Given the description of an element on the screen output the (x, y) to click on. 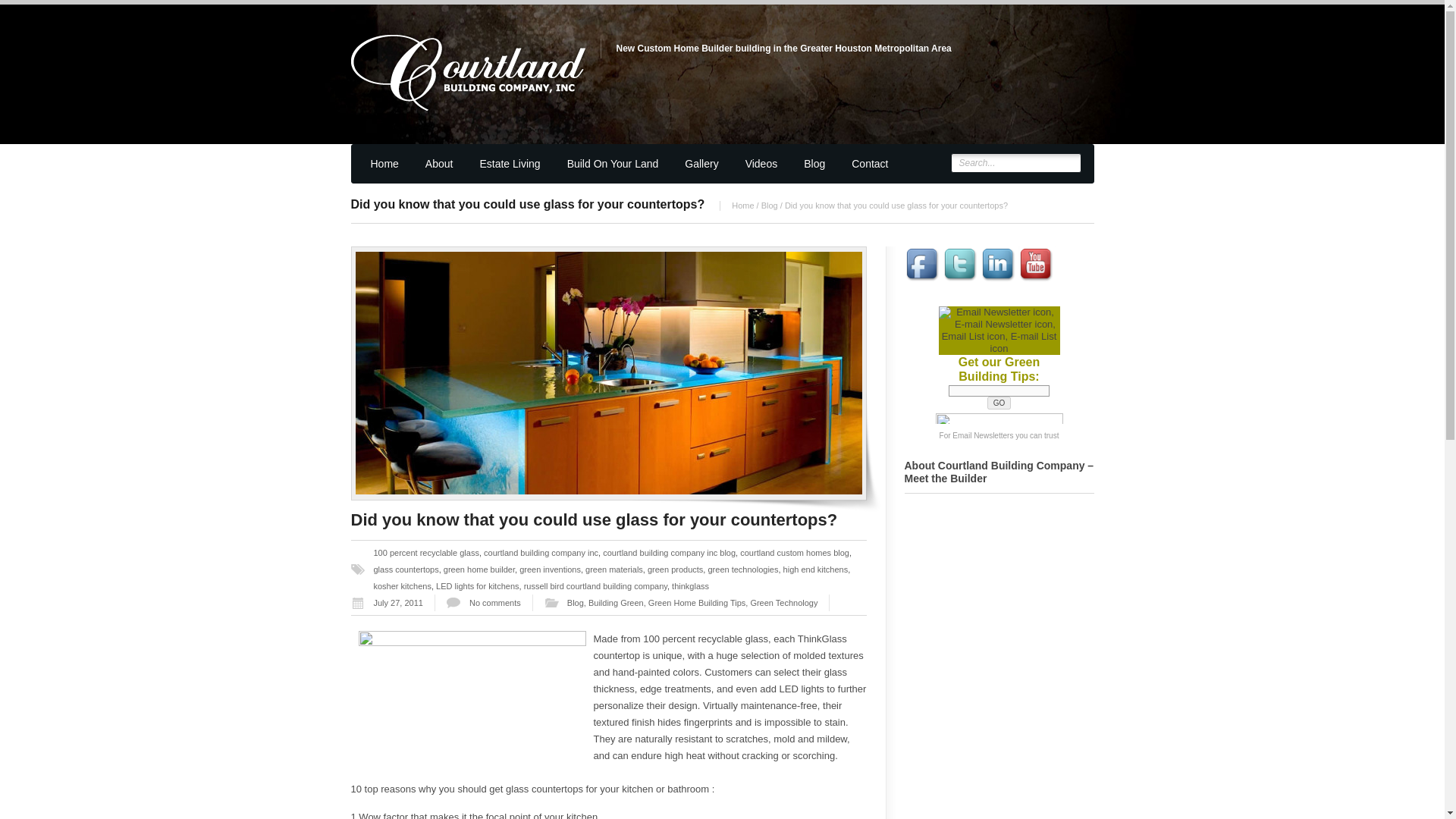
Contact (867, 169)
green home builder (479, 569)
Building Green (615, 602)
100 percent recyclable glass (425, 552)
green technologies (742, 569)
LED lights for kitchens (476, 585)
green materials (614, 569)
Blog (575, 602)
twitter (960, 265)
courtland building company inc blog (668, 552)
